Given the description of an element on the screen output the (x, y) to click on. 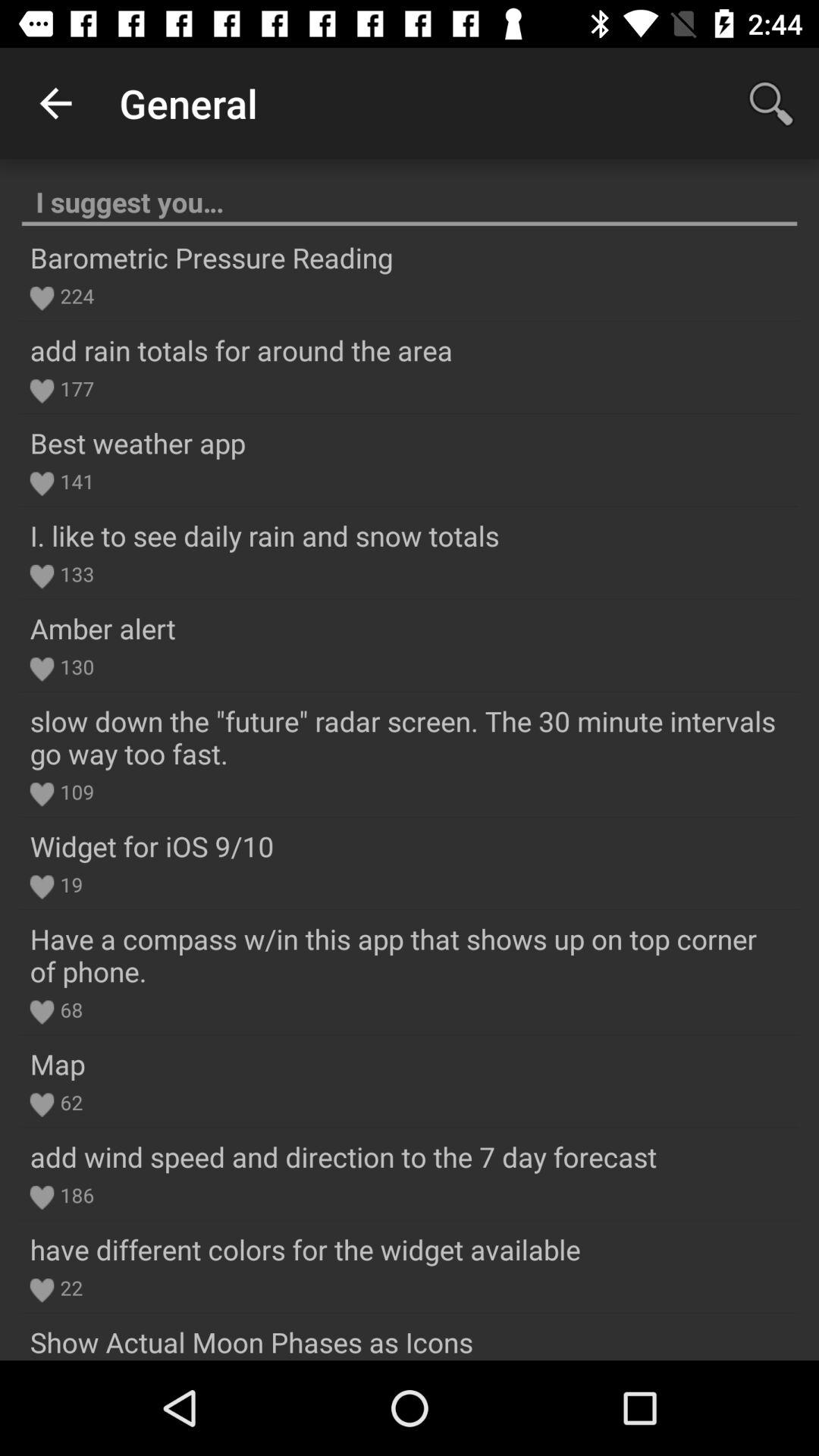
press the i like to item (264, 535)
